Given the description of an element on the screen output the (x, y) to click on. 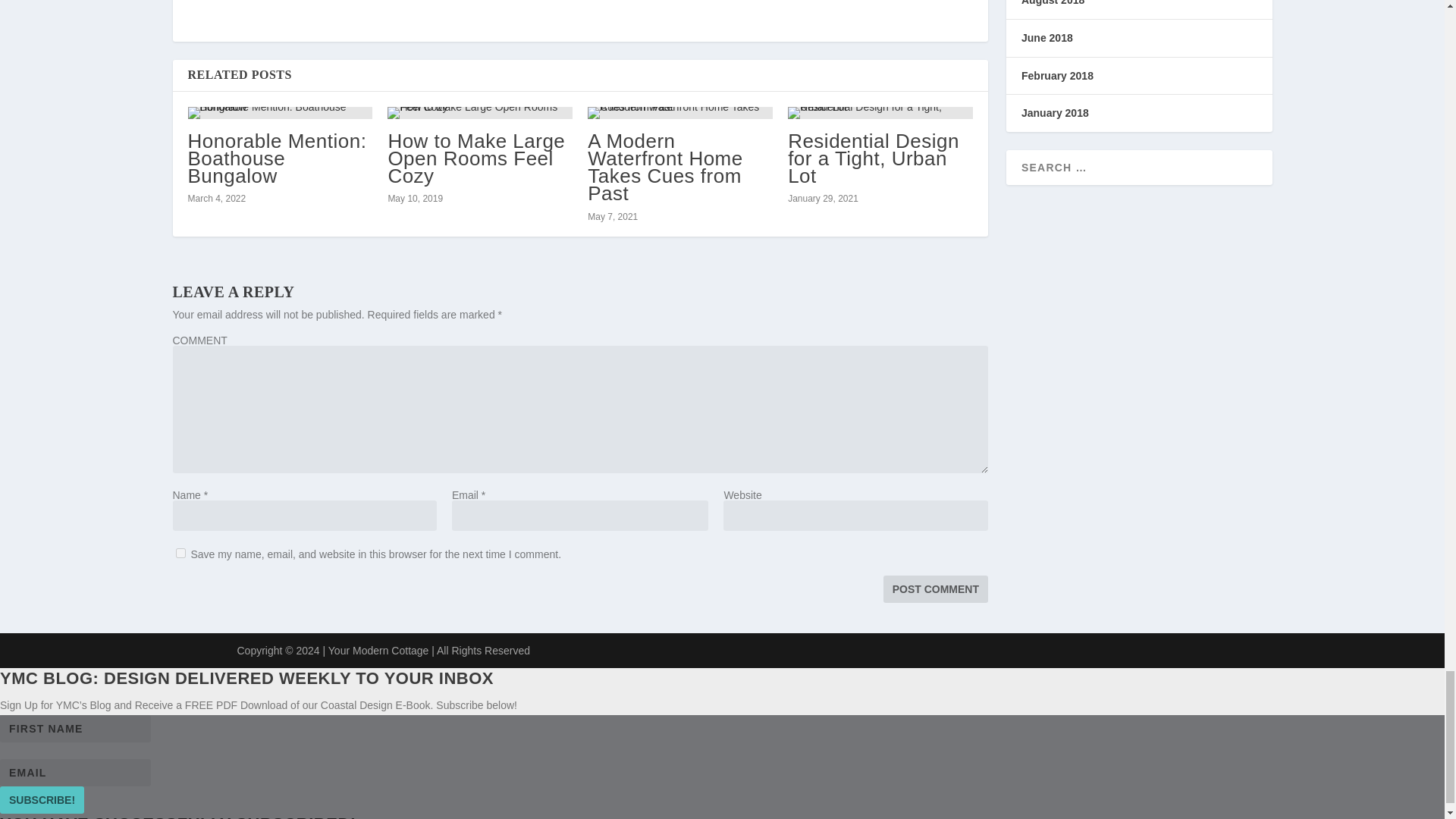
Honorable Mention: Boathouse Bungalow (276, 158)
yes (181, 552)
Post Comment (935, 588)
How to Make Large Open Rooms Feel Cozy (475, 158)
